Given the description of an element on the screen output the (x, y) to click on. 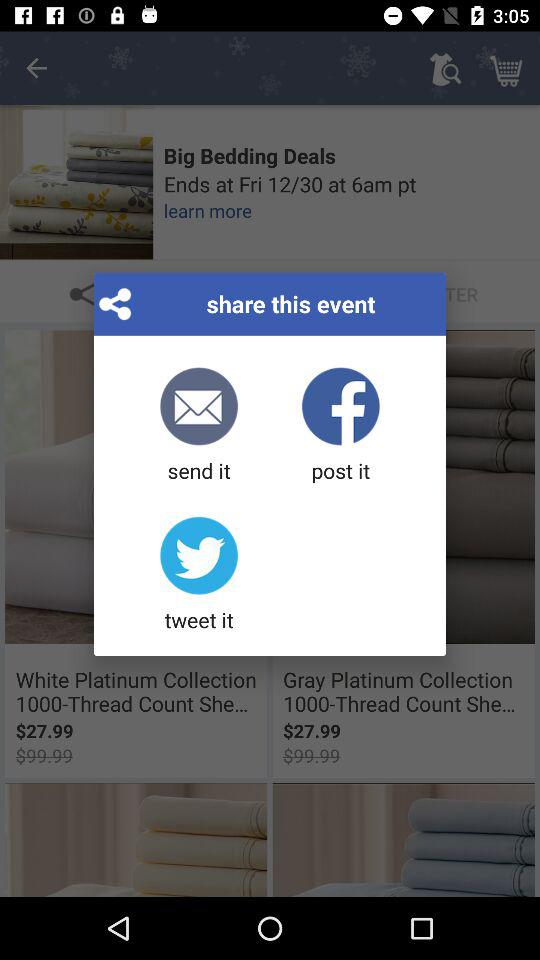
swipe to send it item (198, 425)
